Given the description of an element on the screen output the (x, y) to click on. 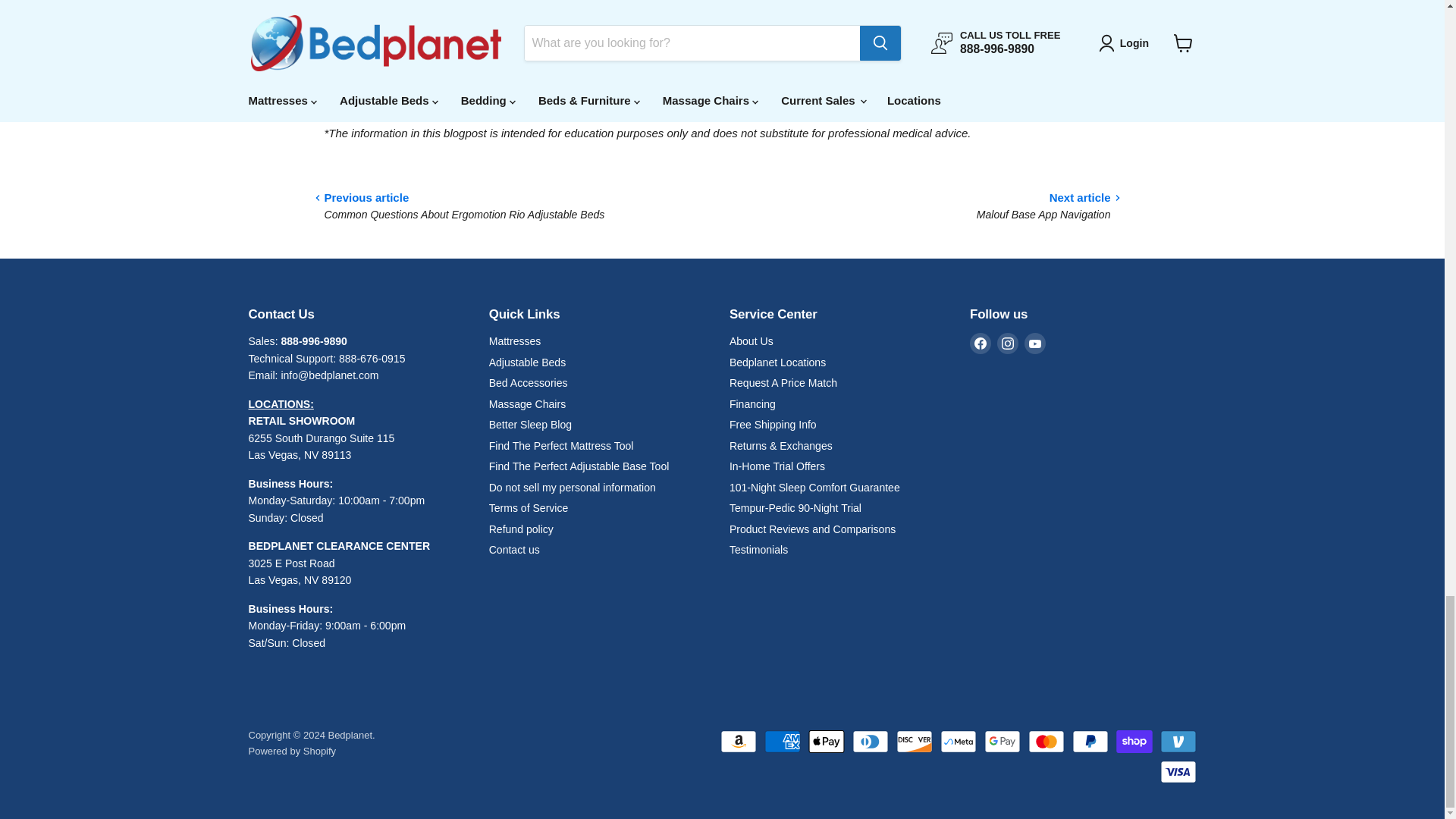
Facebook (980, 342)
YouTube (1035, 342)
Instagram (1007, 342)
American Express (782, 741)
Amazon (738, 741)
